Given the description of an element on the screen output the (x, y) to click on. 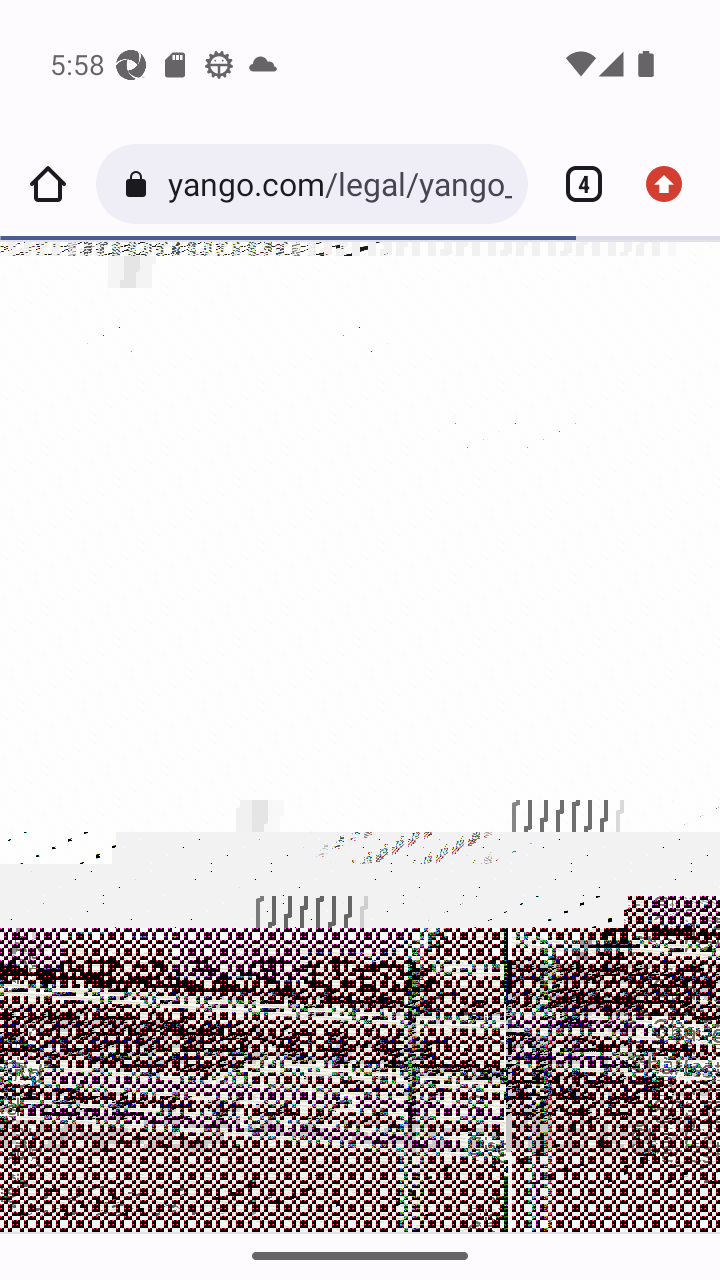
Home (47, 184)
Connection is secure (139, 184)
Switch or close tabs (575, 184)
Update available. More options (672, 184)
yango.com/legal/yango_mobile_agreement/?lang%3Den (339, 184)
